Given the description of an element on the screen output the (x, y) to click on. 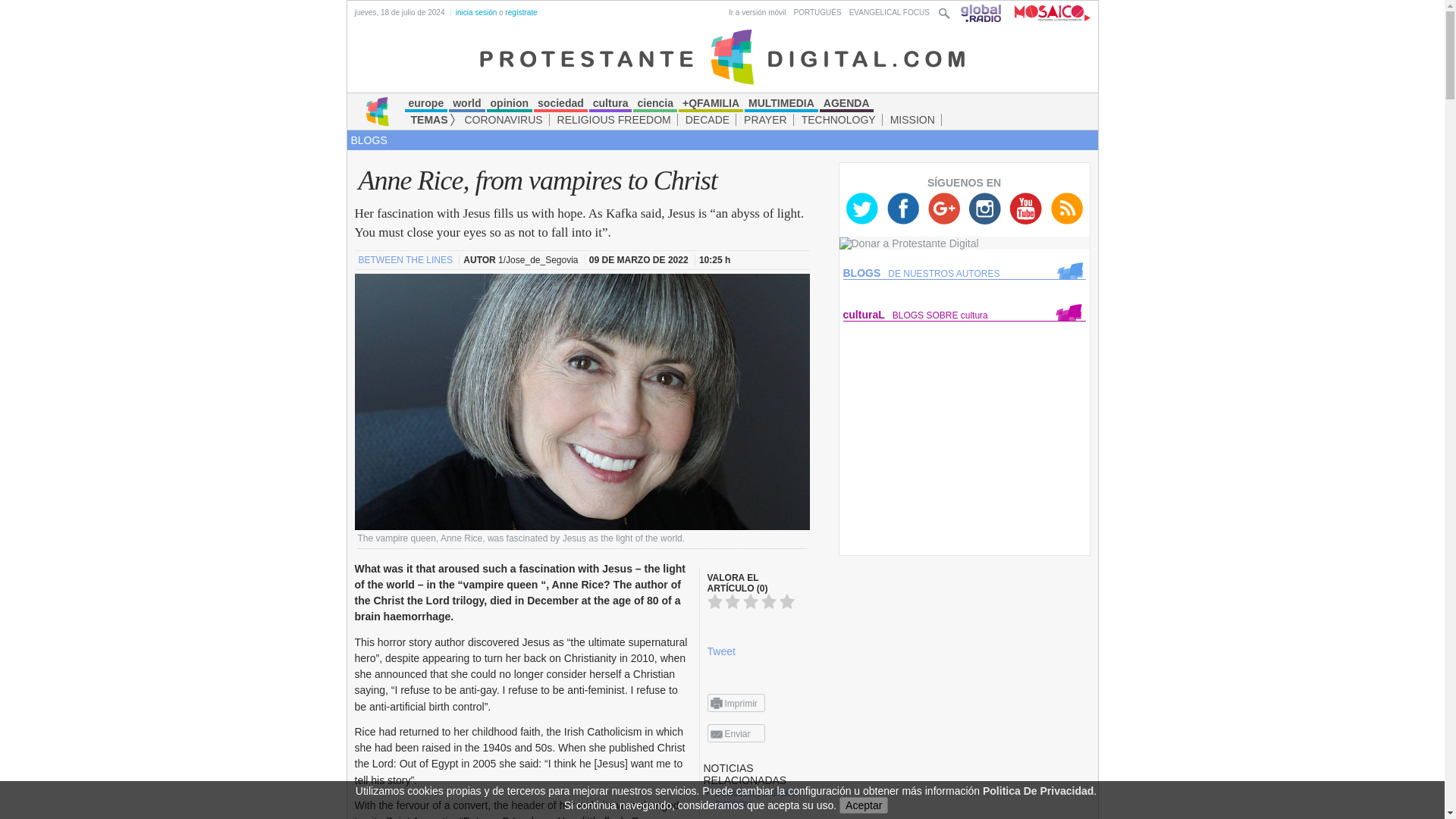
Tweet (720, 650)
BETWEEN THE LINES (406, 259)
BLOGS (368, 140)
